Given the description of an element on the screen output the (x, y) to click on. 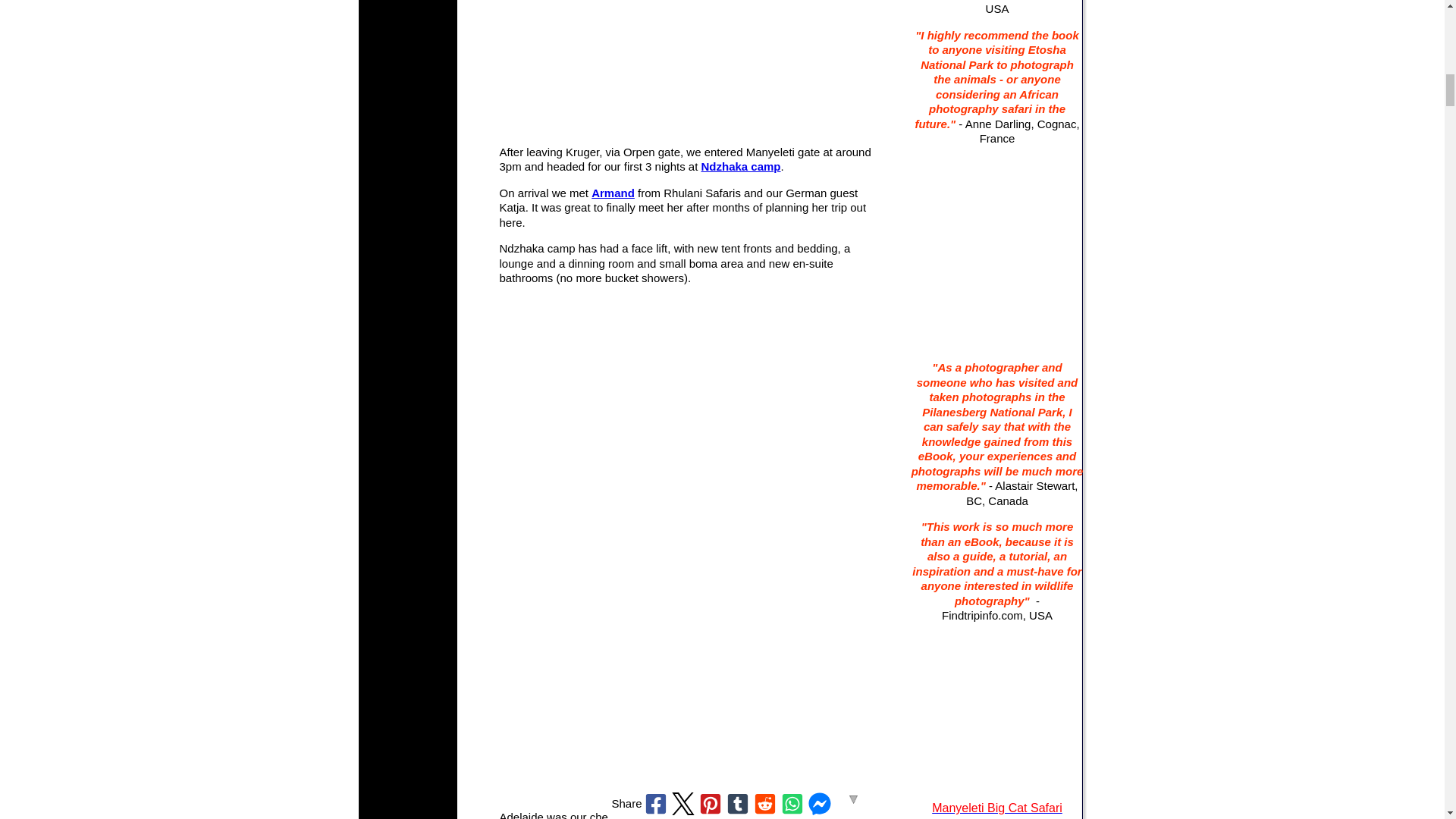
Armand (612, 192)
Ndzhaka camp (740, 165)
